Given the description of an element on the screen output the (x, y) to click on. 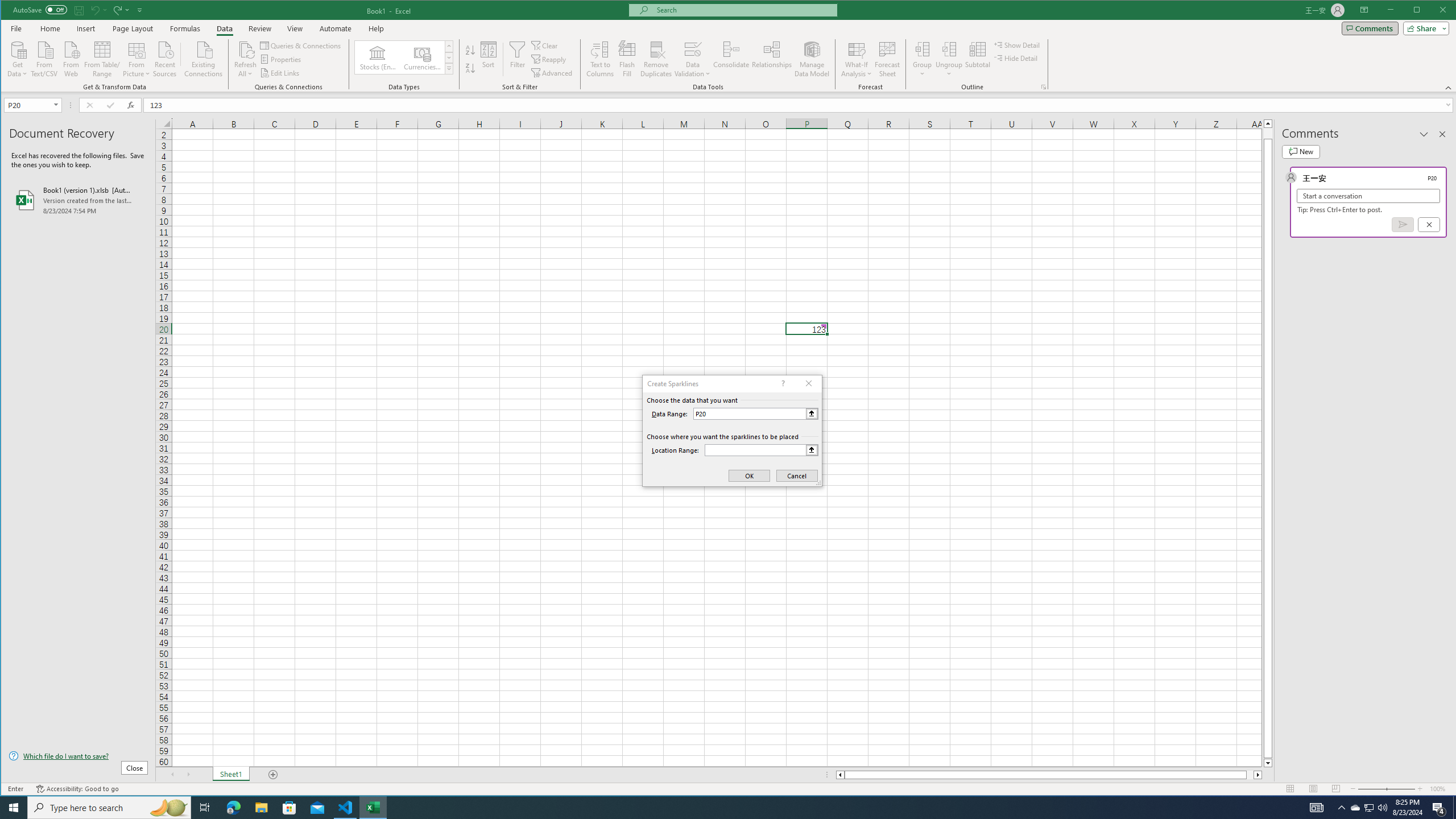
Ungroup... (948, 59)
Refresh All (244, 48)
Show Detail (1017, 44)
Page Break Preview (1335, 788)
More Options (948, 69)
Data (224, 28)
Cancel (1428, 224)
Sort Largest to Smallest (470, 68)
Sheet1 (230, 774)
Scroll Right (188, 774)
New comment (1300, 151)
From Table/Range (102, 57)
Group... (922, 48)
Clear (545, 45)
Remove Duplicates (655, 59)
